Given the description of an element on the screen output the (x, y) to click on. 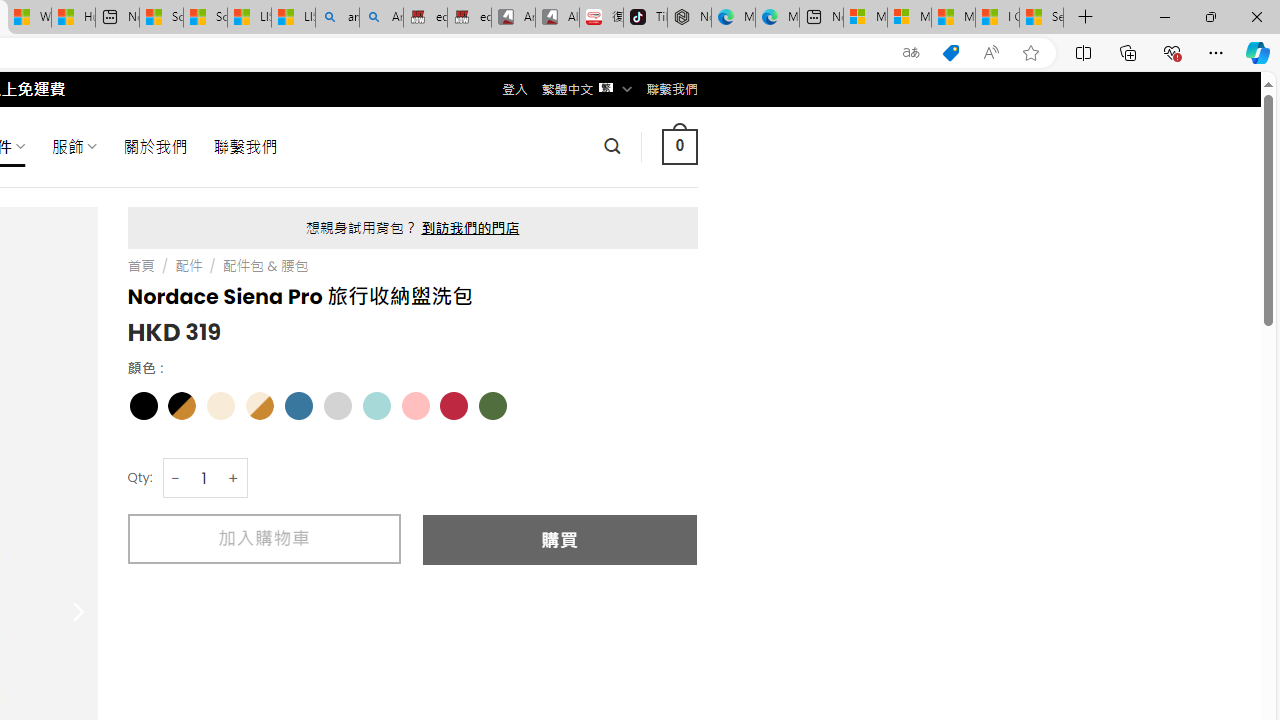
This site has coupons! Shopping in Microsoft Edge (950, 53)
Amazon Echo Dot PNG - Search Images (381, 17)
